Given the description of an element on the screen output the (x, y) to click on. 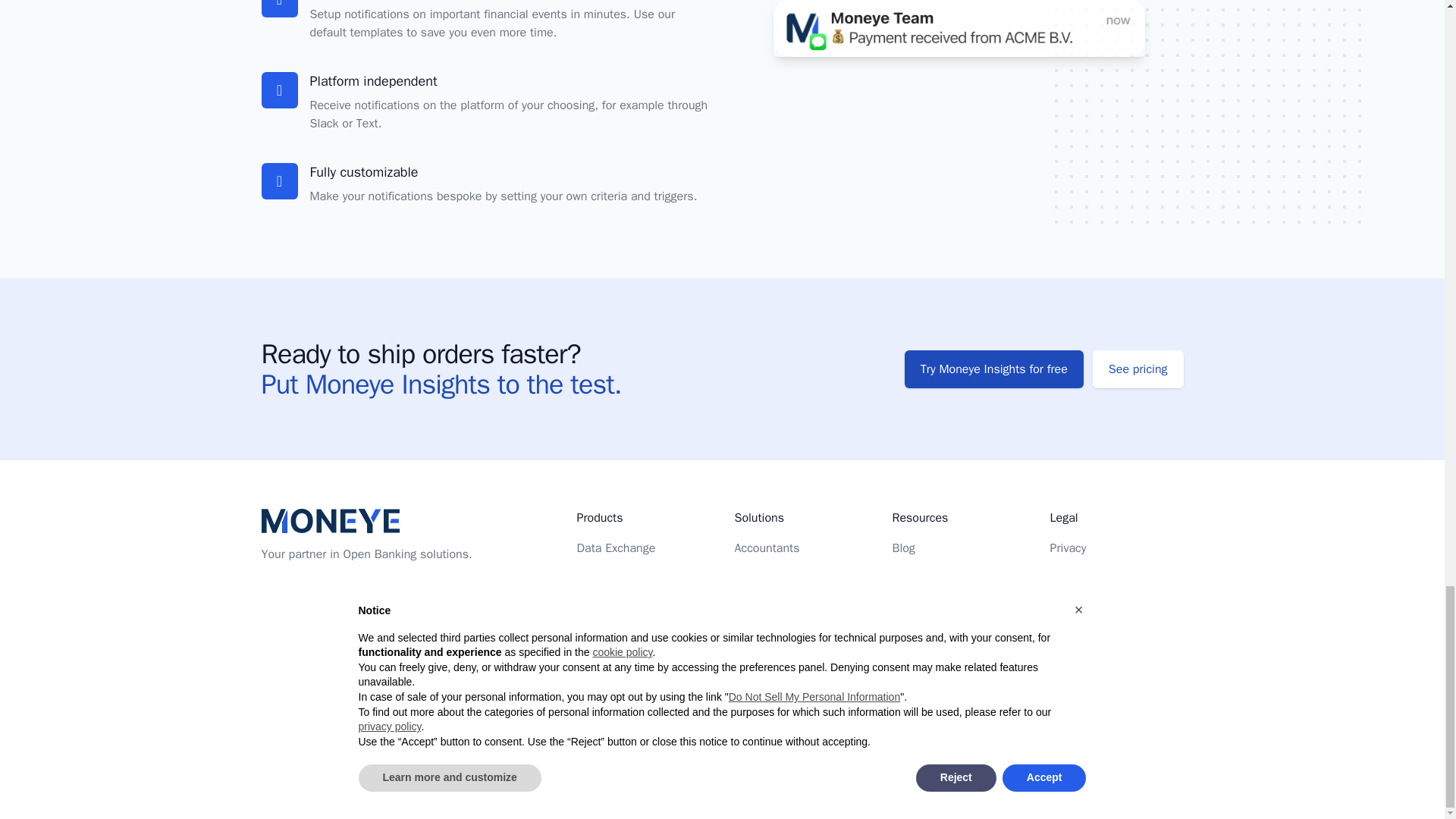
Business Owners (779, 608)
Retail (748, 669)
Wholesale (761, 578)
Data Exchange (615, 548)
Automate (601, 578)
Accountants (766, 548)
Wholesale (761, 639)
Insights (596, 608)
